Given the description of an element on the screen output the (x, y) to click on. 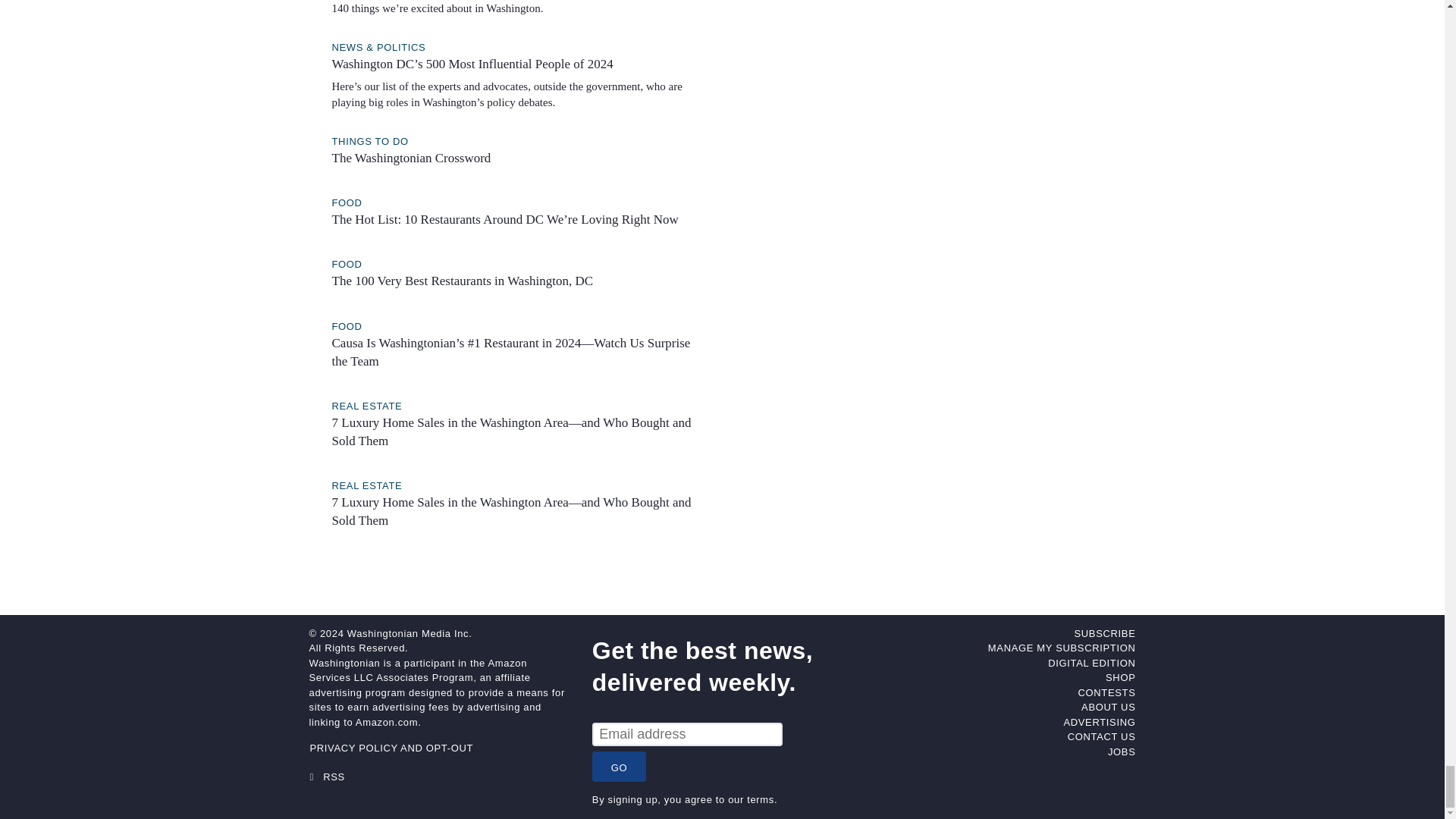
GO (619, 766)
